Given the description of an element on the screen output the (x, y) to click on. 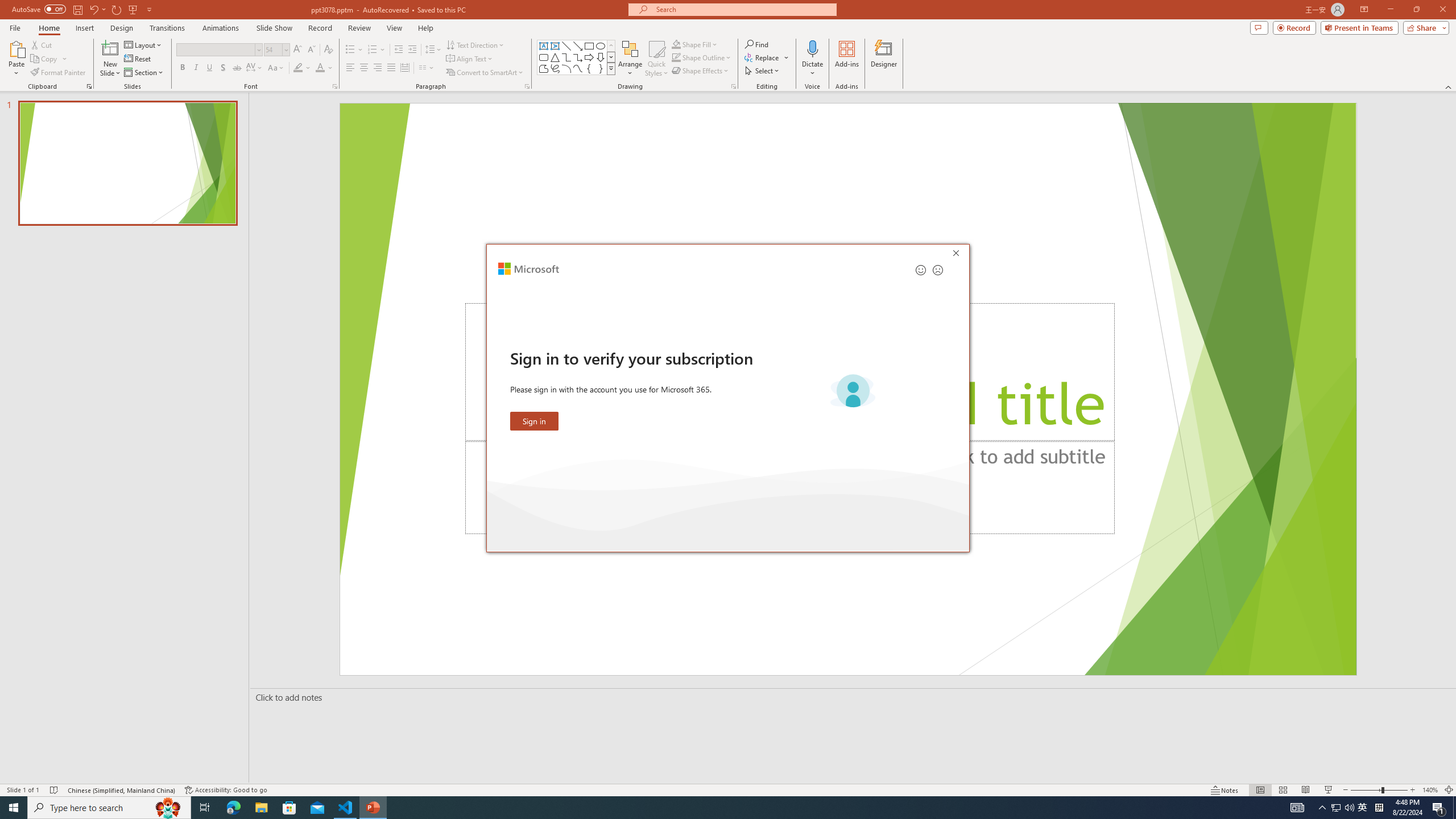
Character Spacing (254, 67)
Vertical Text Box (554, 45)
Shape Outline (701, 56)
Zoom 140% (1430, 790)
Arrange (630, 58)
Increase Font Size (297, 49)
